Given the description of an element on the screen output the (x, y) to click on. 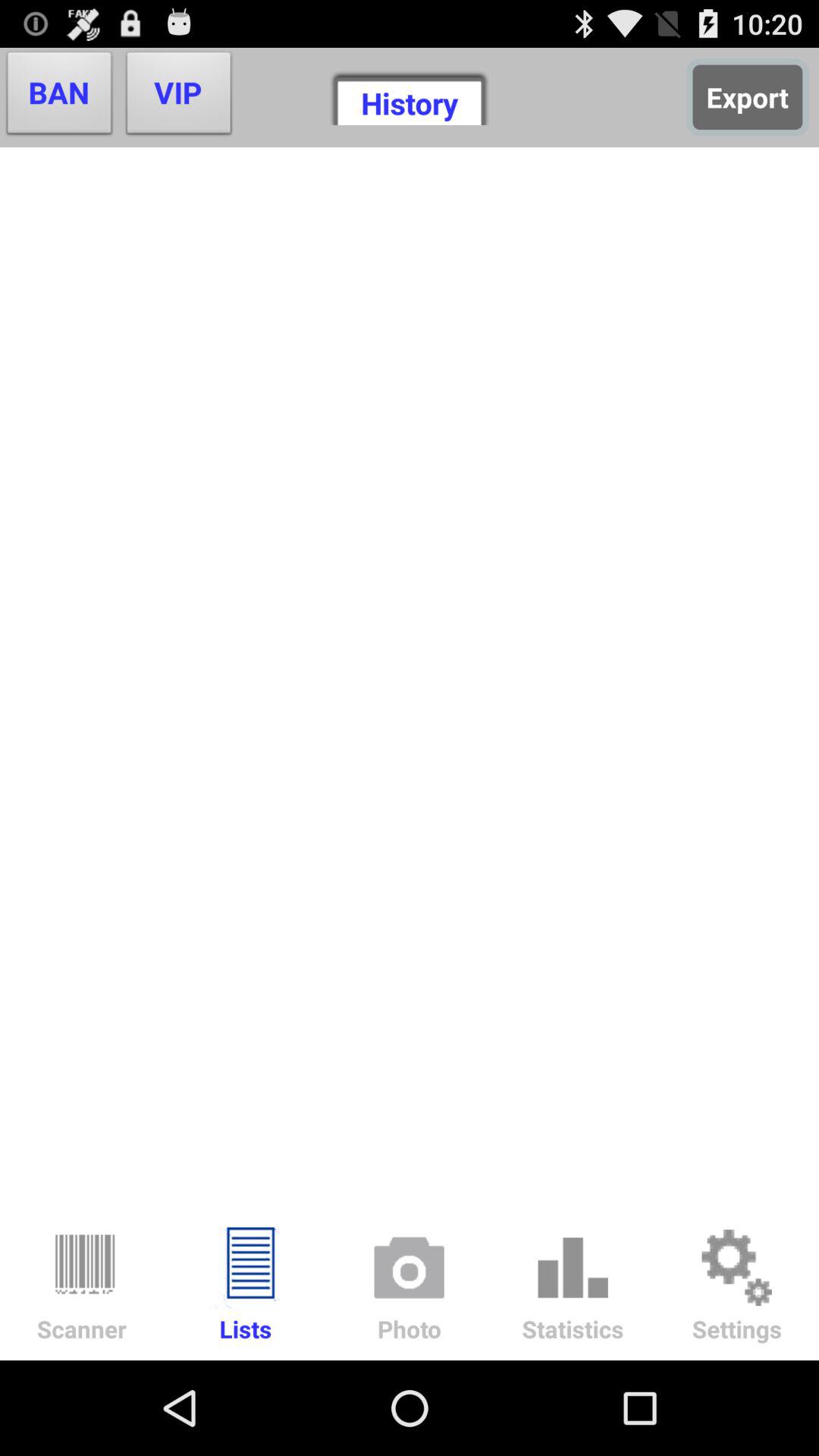
launch button to the left of history icon (178, 97)
